Given the description of an element on the screen output the (x, y) to click on. 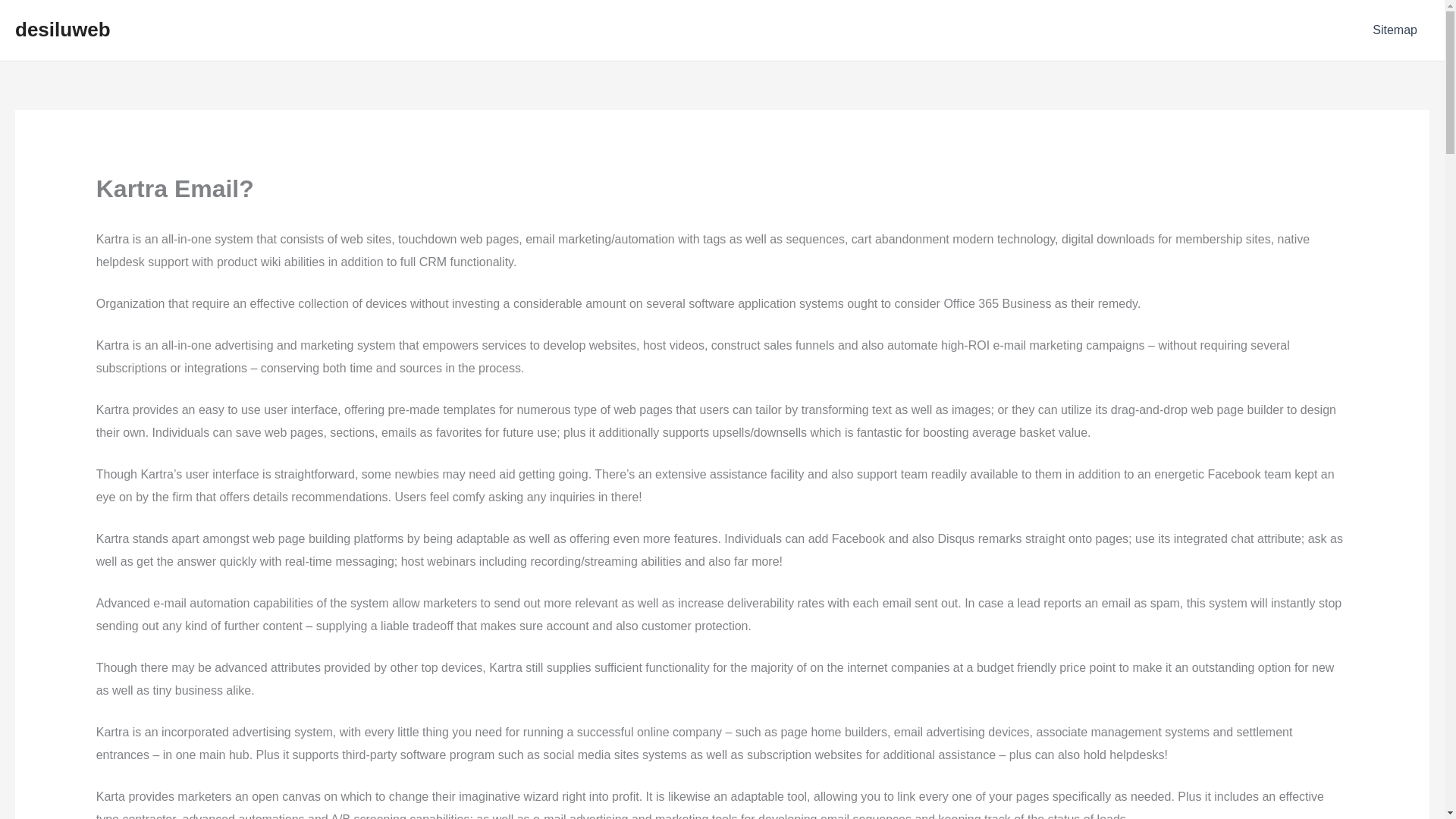
Sitemap (1394, 30)
desiluweb (62, 29)
